Given the description of an element on the screen output the (x, y) to click on. 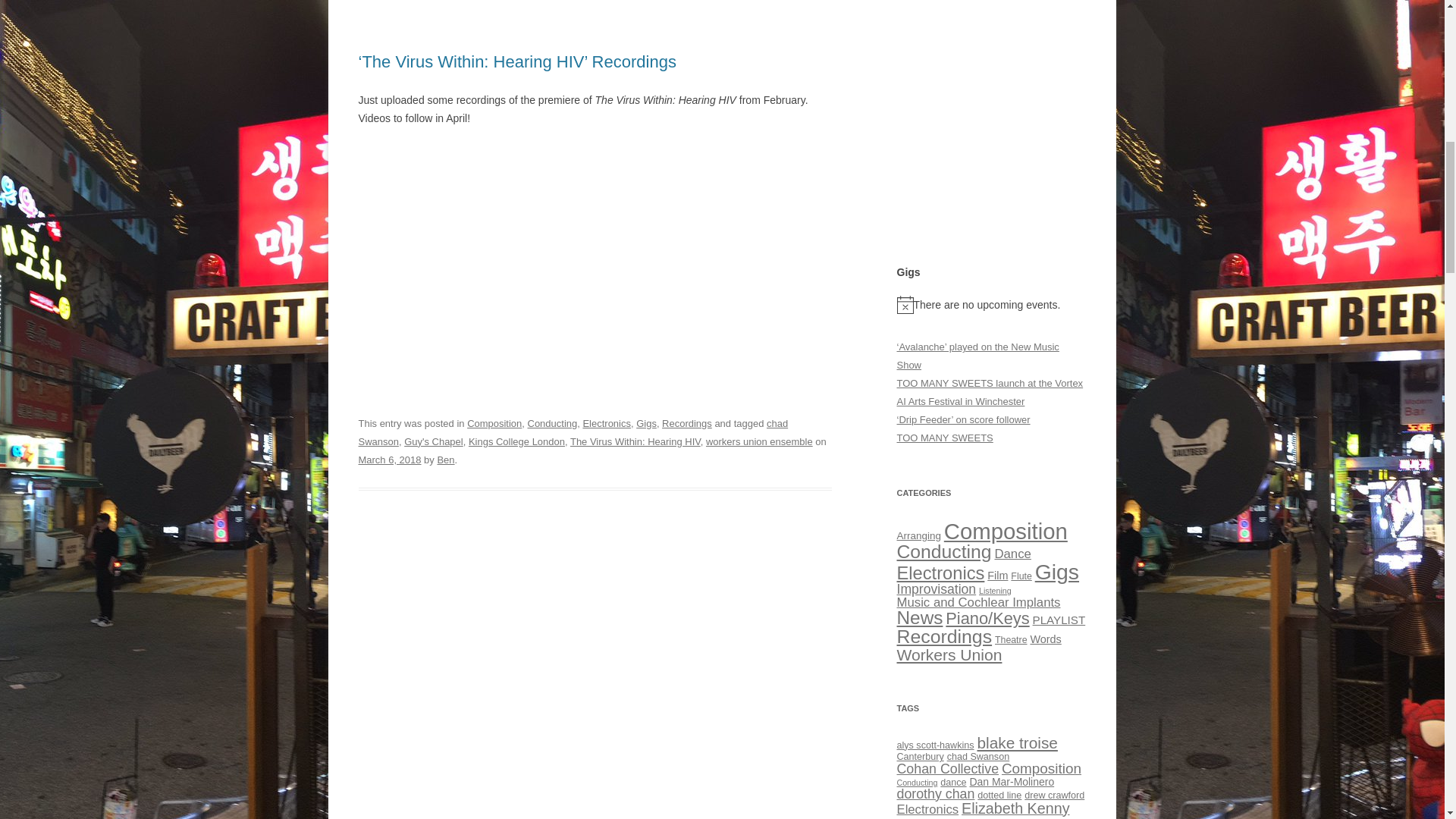
View all posts by Ben (445, 460)
Composition (494, 423)
1:37 pm (389, 460)
